Given the description of an element on the screen output the (x, y) to click on. 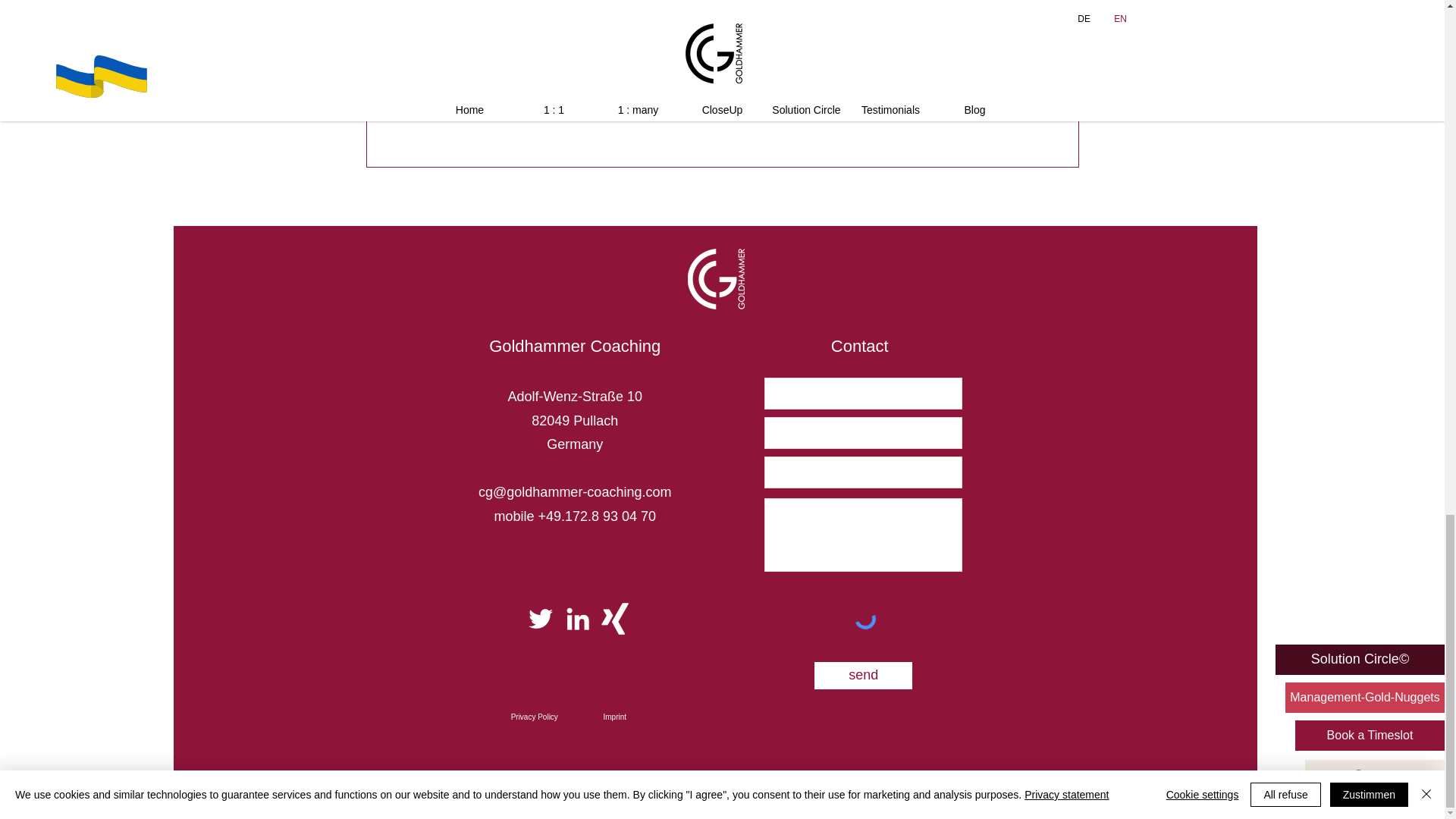
Contact (859, 345)
Goldhammer Coaching (575, 345)
send (862, 675)
30-minute-free-of-charge-info-session (596, 26)
Privacy Policy (533, 716)
Imprint (614, 716)
